Given the description of an element on the screen output the (x, y) to click on. 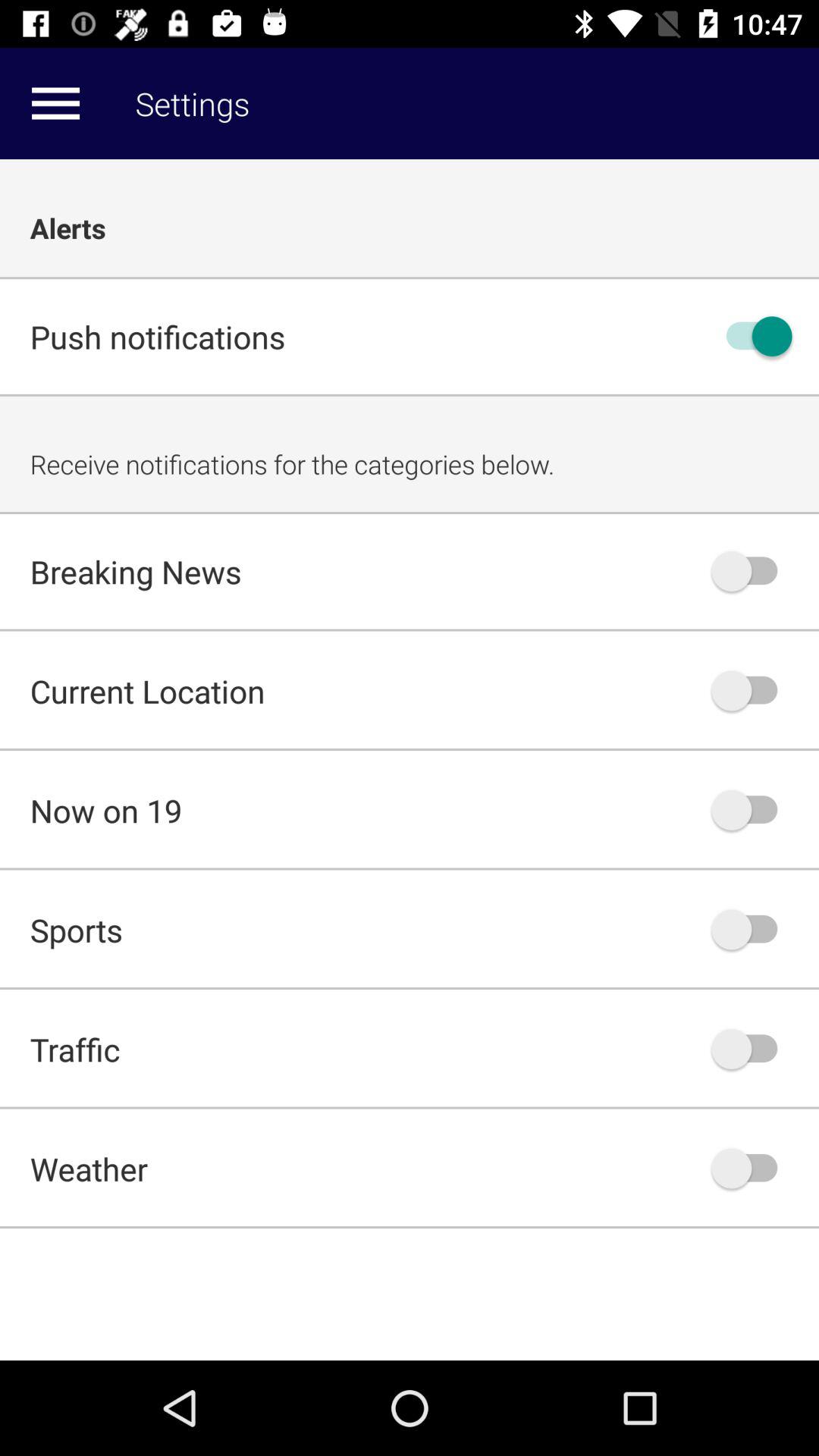
tap app to the left of the settings icon (55, 103)
